Given the description of an element on the screen output the (x, y) to click on. 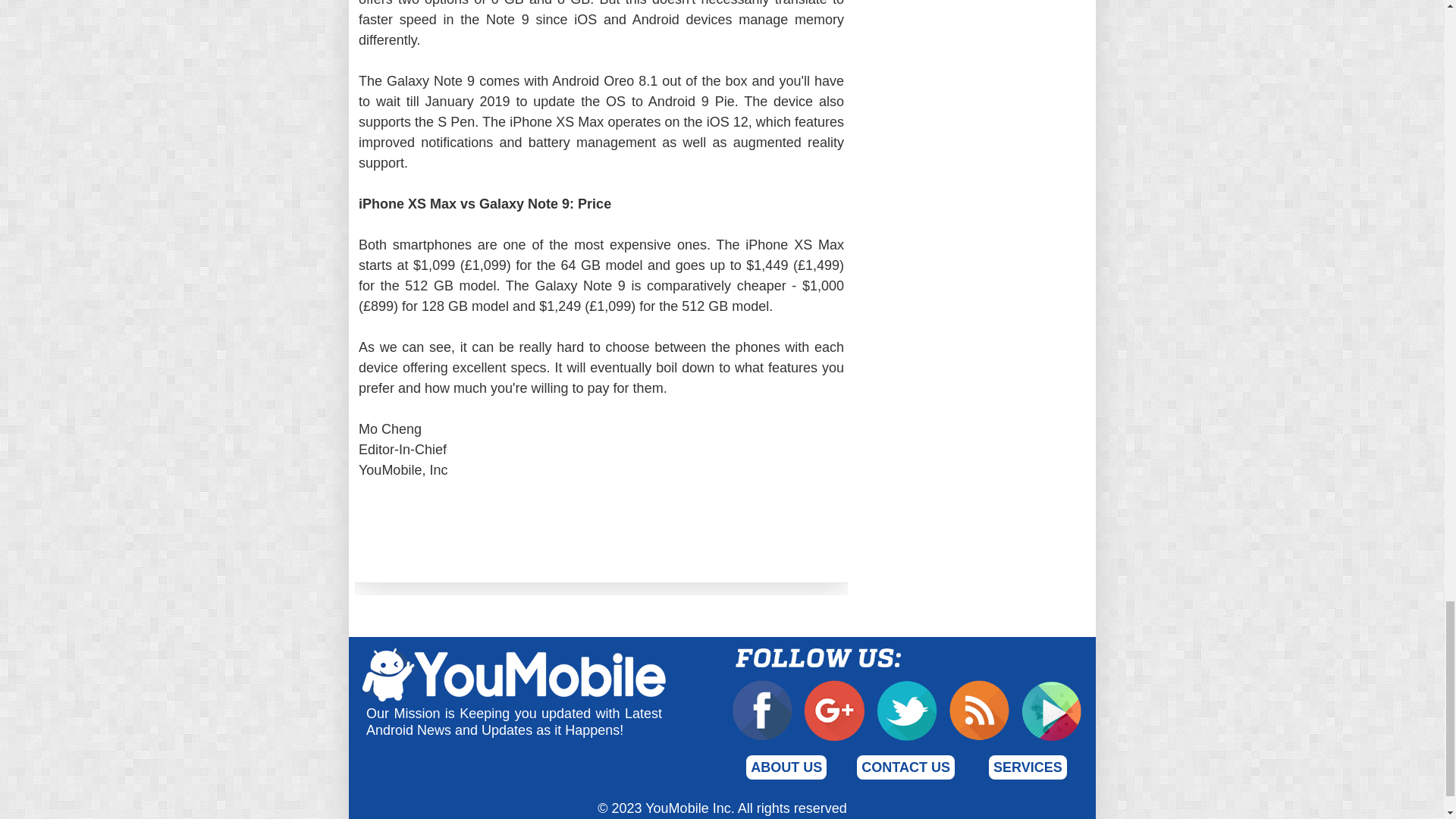
Share This Article on Facebook (438, 533)
Share This Article on Twitter (759, 533)
